Given the description of an element on the screen output the (x, y) to click on. 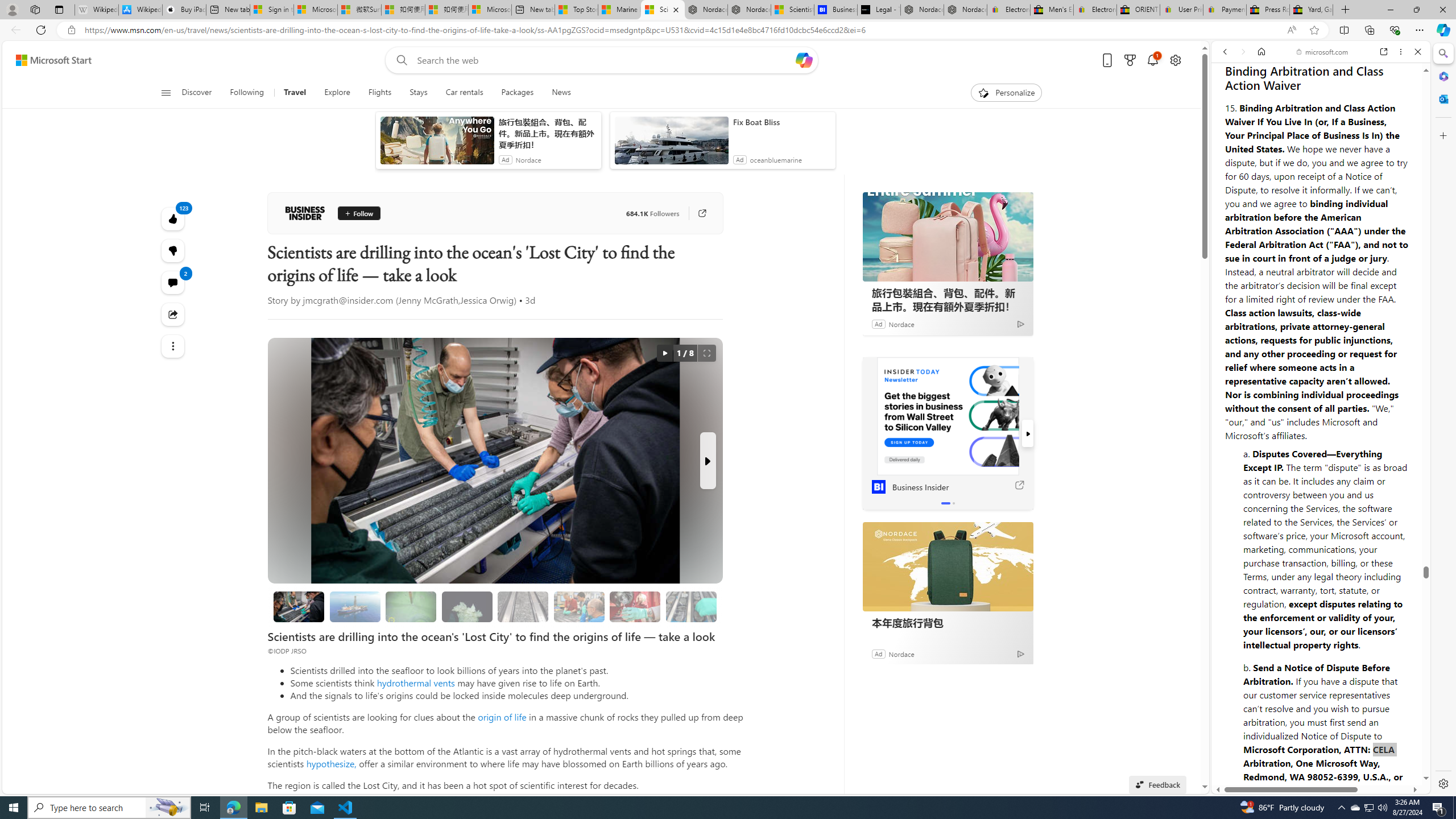
Travel (294, 92)
Following (246, 92)
hydrothermal vents (415, 682)
Discover (197, 92)
Next Slide (707, 460)
Address and search bar (680, 29)
Class: progress (691, 604)
Electronics, Cars, Fashion, Collectibles & More | eBay (1094, 9)
Minimize Search pane (1442, 53)
